Given the description of an element on the screen output the (x, y) to click on. 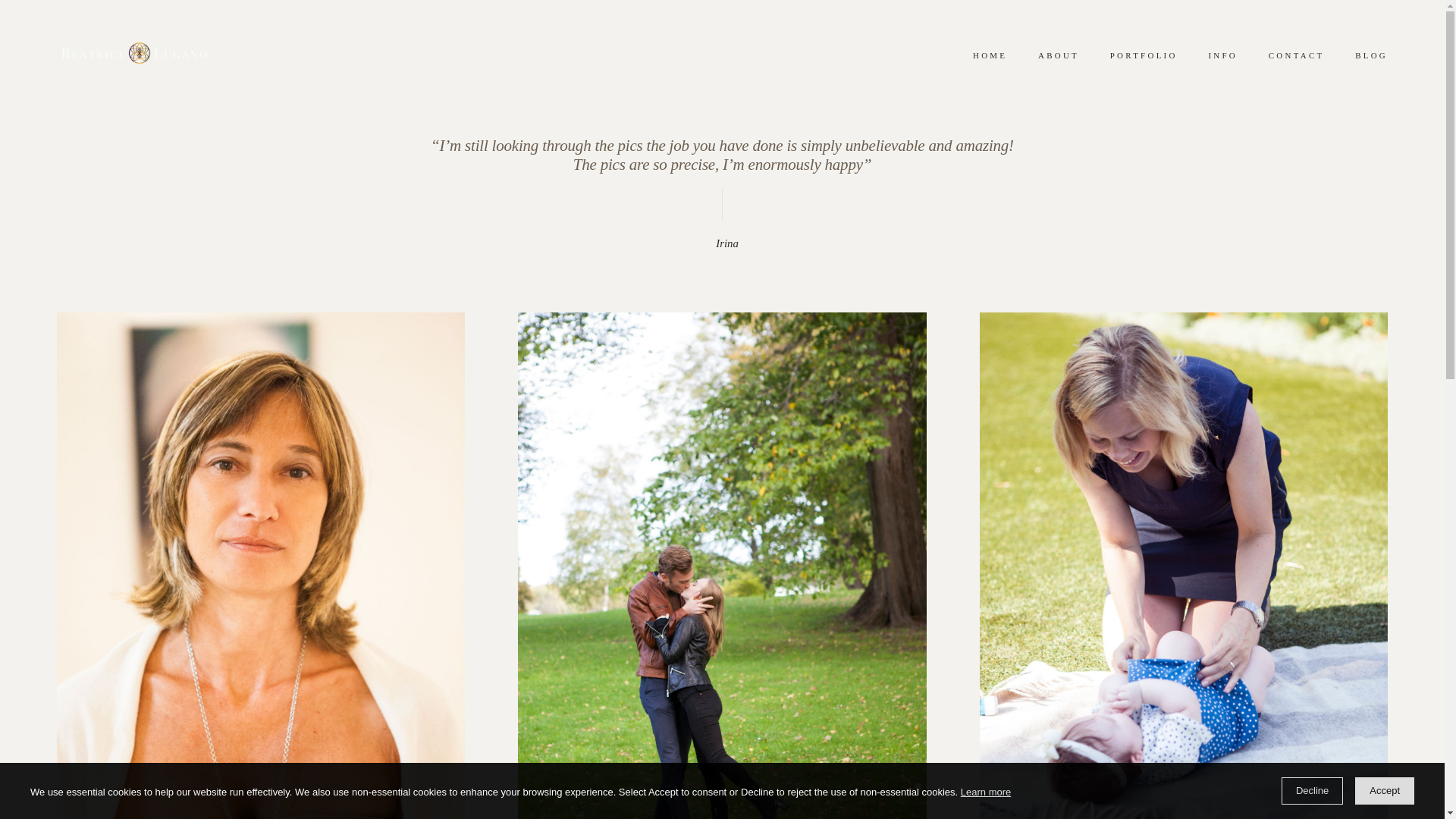
PORTFOLIO (1143, 55)
Accept (1384, 790)
Decline (1311, 790)
ABOUT (1058, 55)
Learn more (985, 791)
HOME (989, 55)
INFO (1222, 55)
BLOG (1371, 55)
CONTACT (1295, 55)
